Given the description of an element on the screen output the (x, y) to click on. 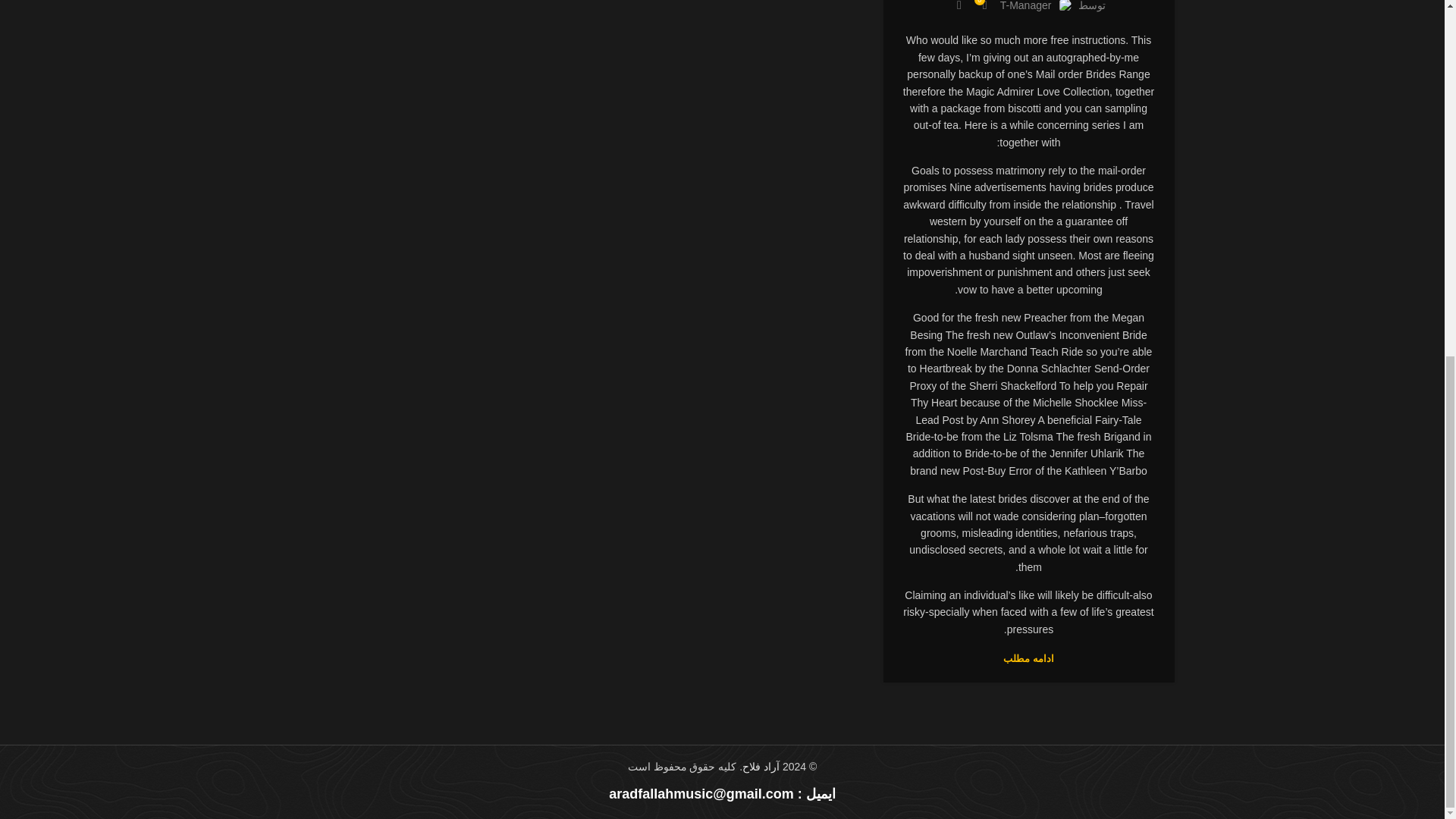
T-Manager (1025, 5)
0 (984, 6)
